Given the description of an element on the screen output the (x, y) to click on. 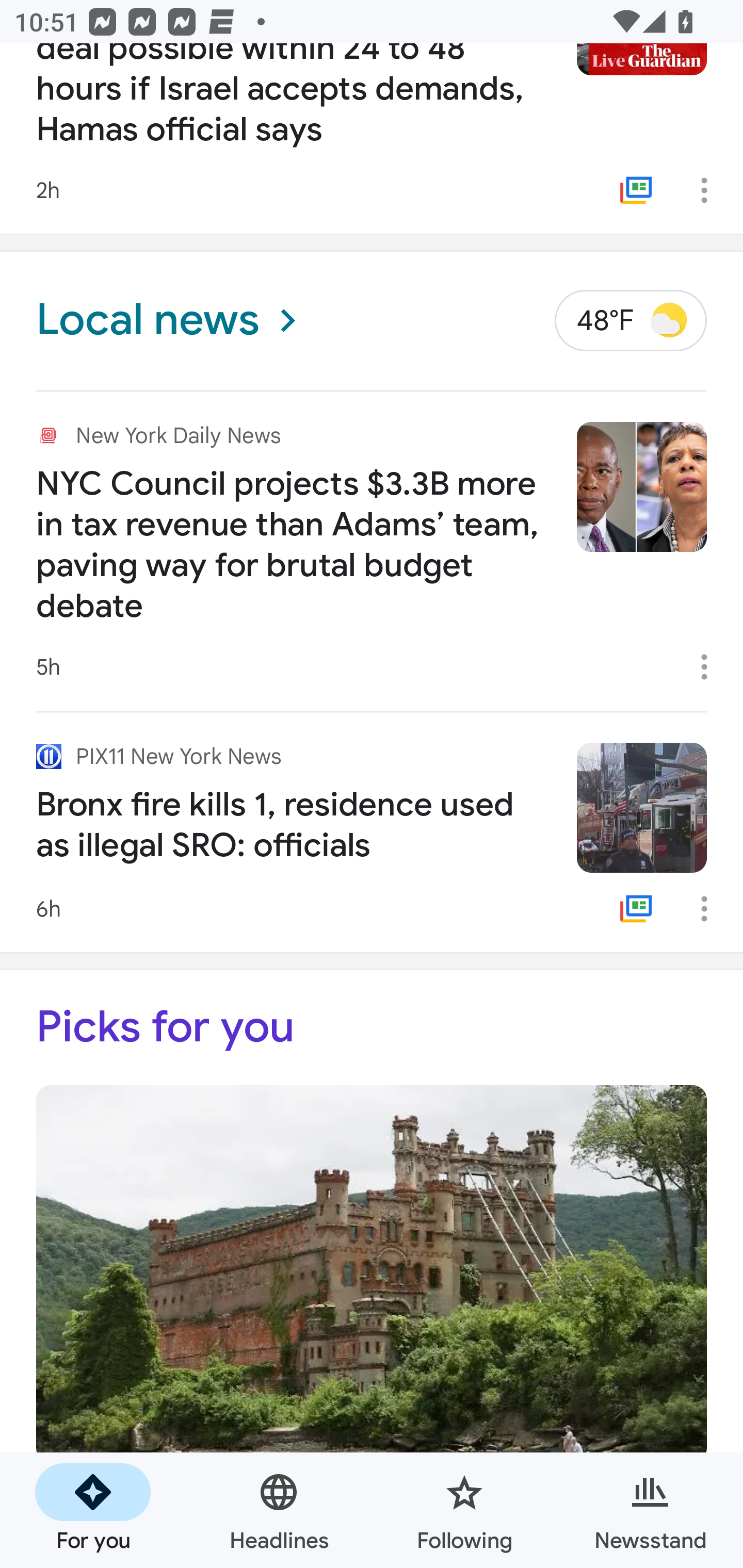
More options (711, 190)
More options (711, 667)
More options (711, 908)
For you (92, 1509)
Headlines (278, 1509)
Following (464, 1509)
Newsstand (650, 1509)
